Given the description of an element on the screen output the (x, y) to click on. 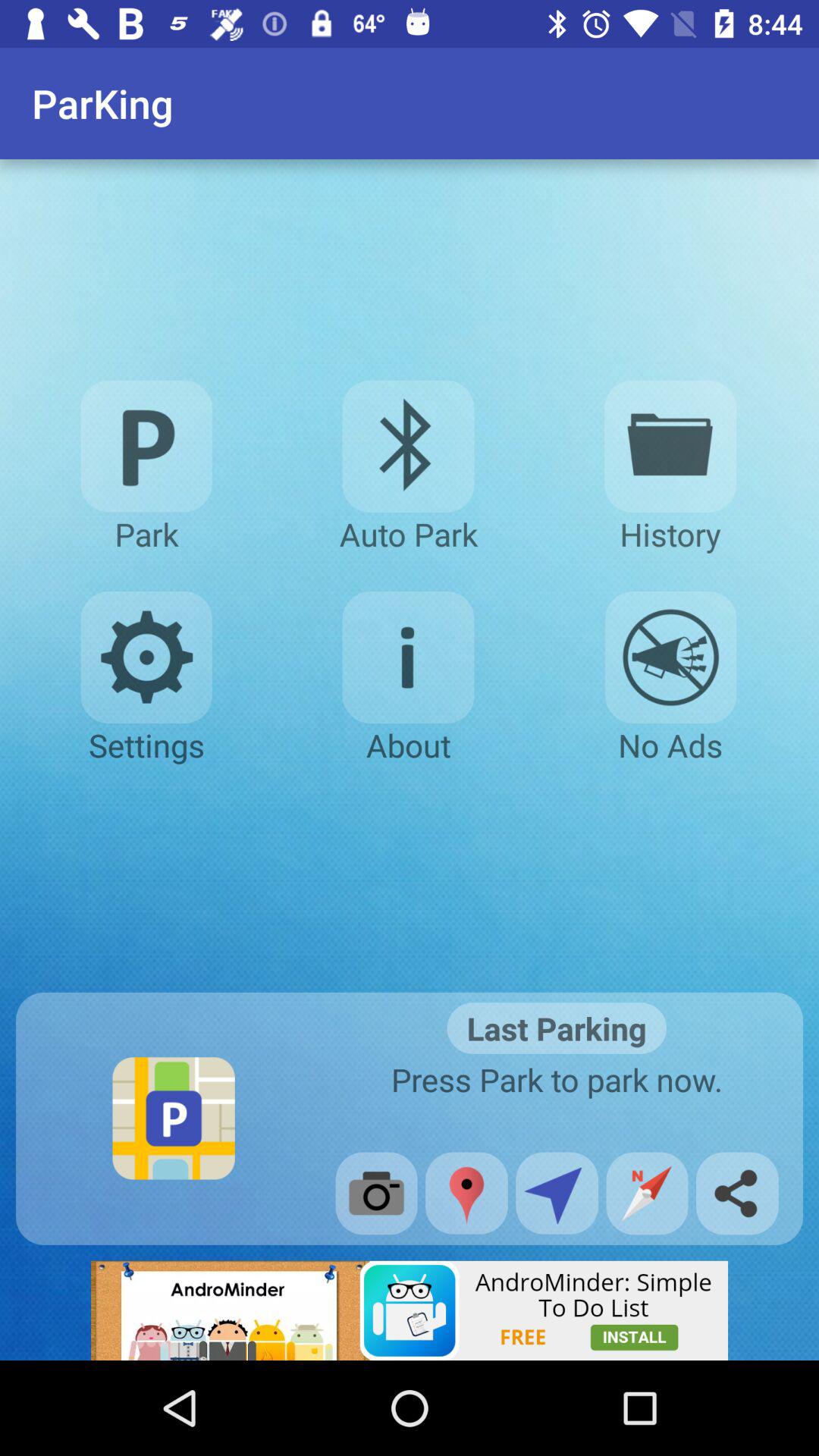
tap to stop advertisements (670, 657)
